Given the description of an element on the screen output the (x, y) to click on. 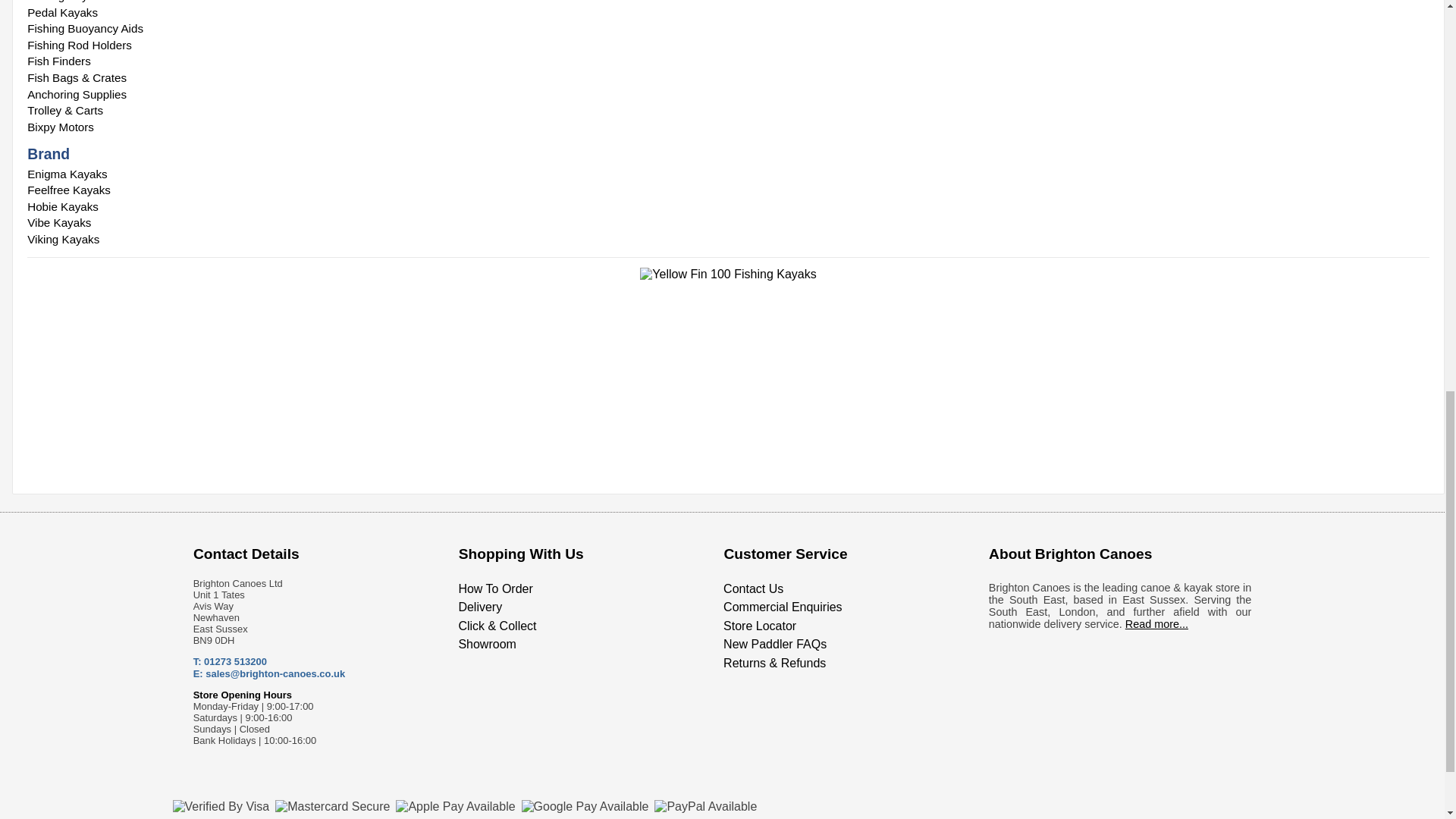
Viking Kayaks (728, 239)
Fishing Buoyancy Aids (728, 28)
Feelfree Kayaks (728, 190)
Anchoring Supplies (728, 93)
Delivery (480, 606)
Vibe Kayaks (728, 222)
Contact Us (753, 588)
Fish Finders (728, 61)
T: 01273 513200 (229, 661)
Pedal Kayaks (728, 12)
Showroom (486, 644)
Hobie Kayaks (728, 207)
Fishing Rod Holders (728, 45)
Enigma Kayaks (728, 173)
